Given the description of an element on the screen output the (x, y) to click on. 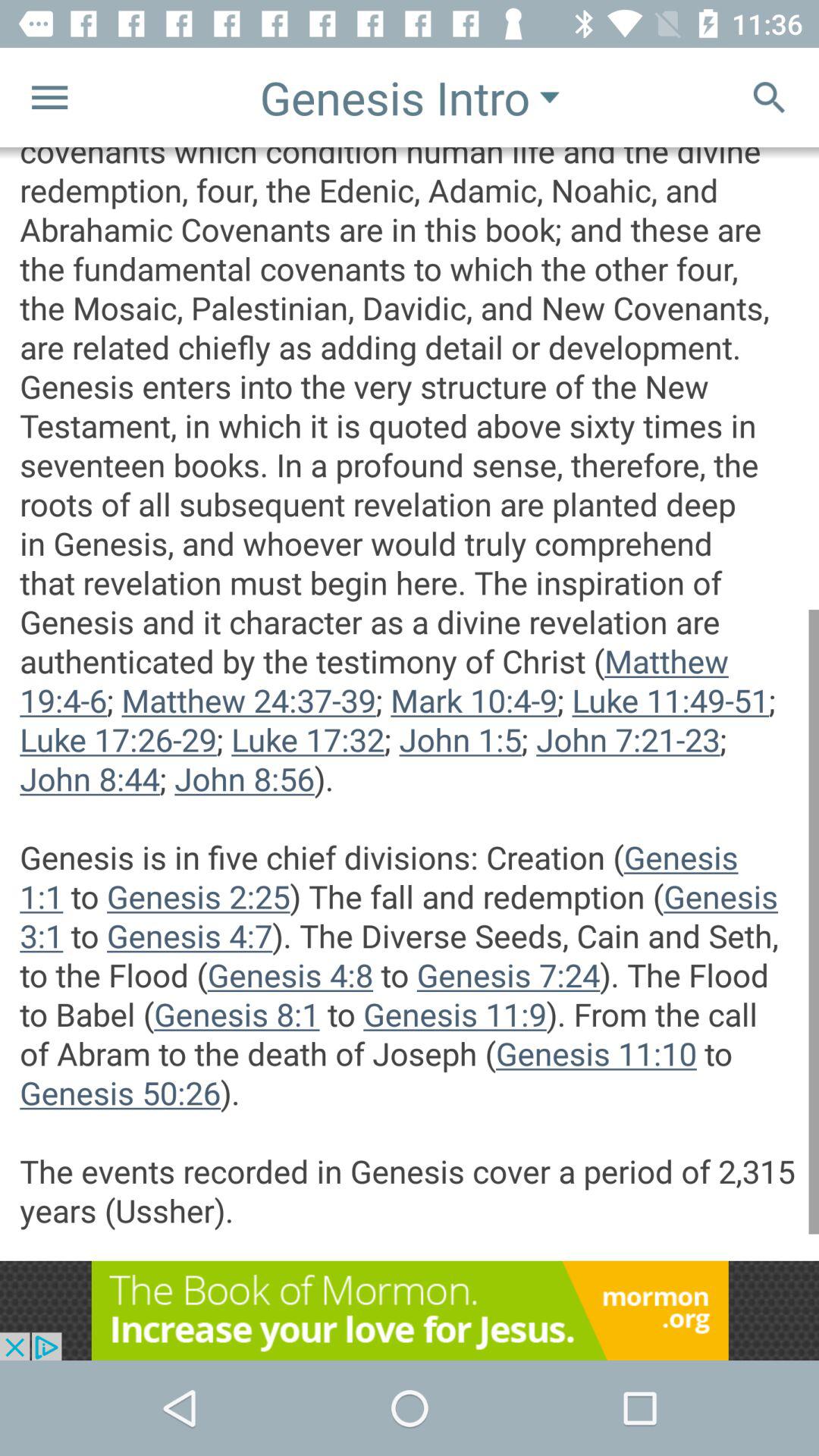
menu (49, 97)
